Given the description of an element on the screen output the (x, y) to click on. 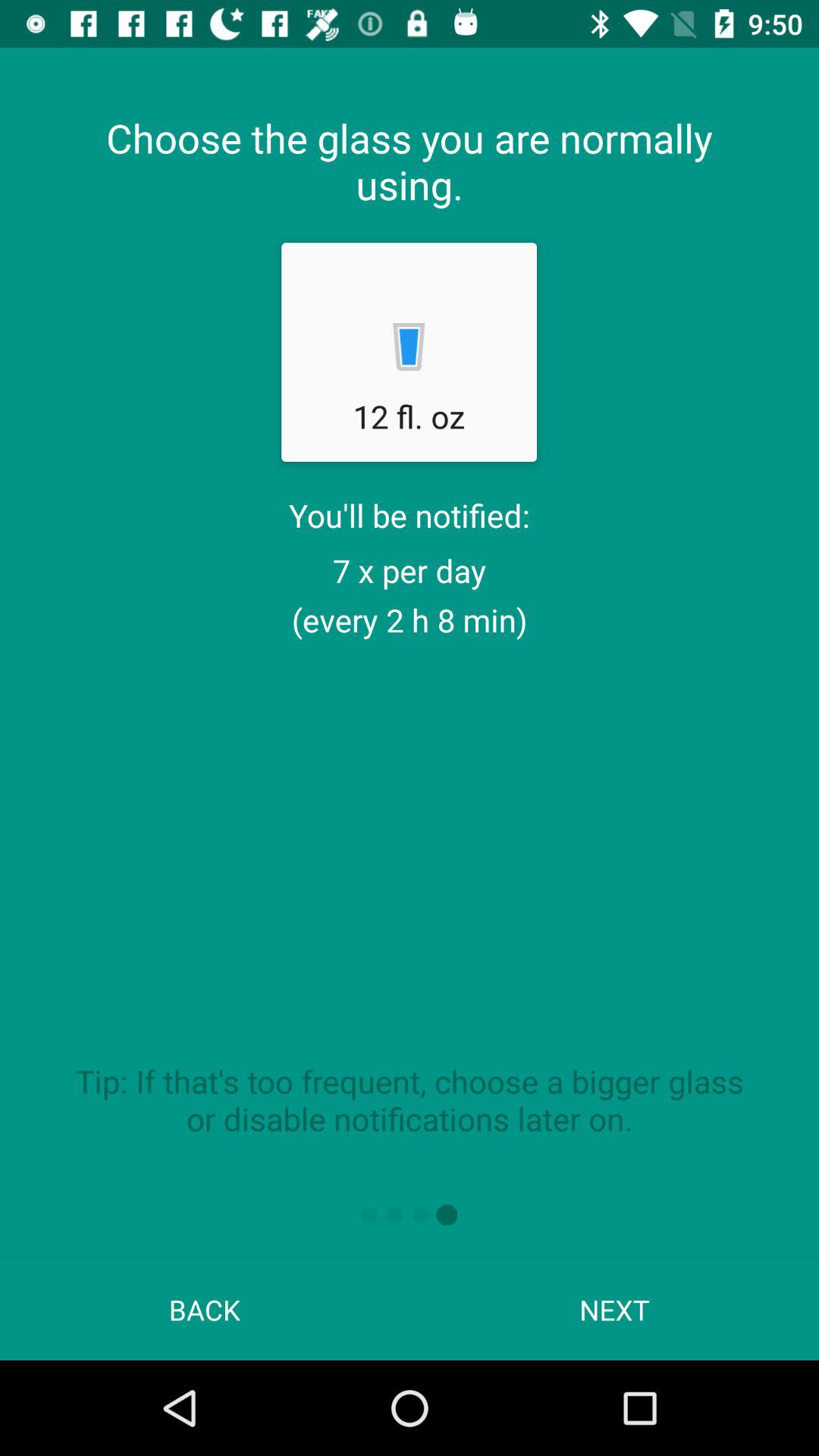
flip until back (204, 1309)
